Given the description of an element on the screen output the (x, y) to click on. 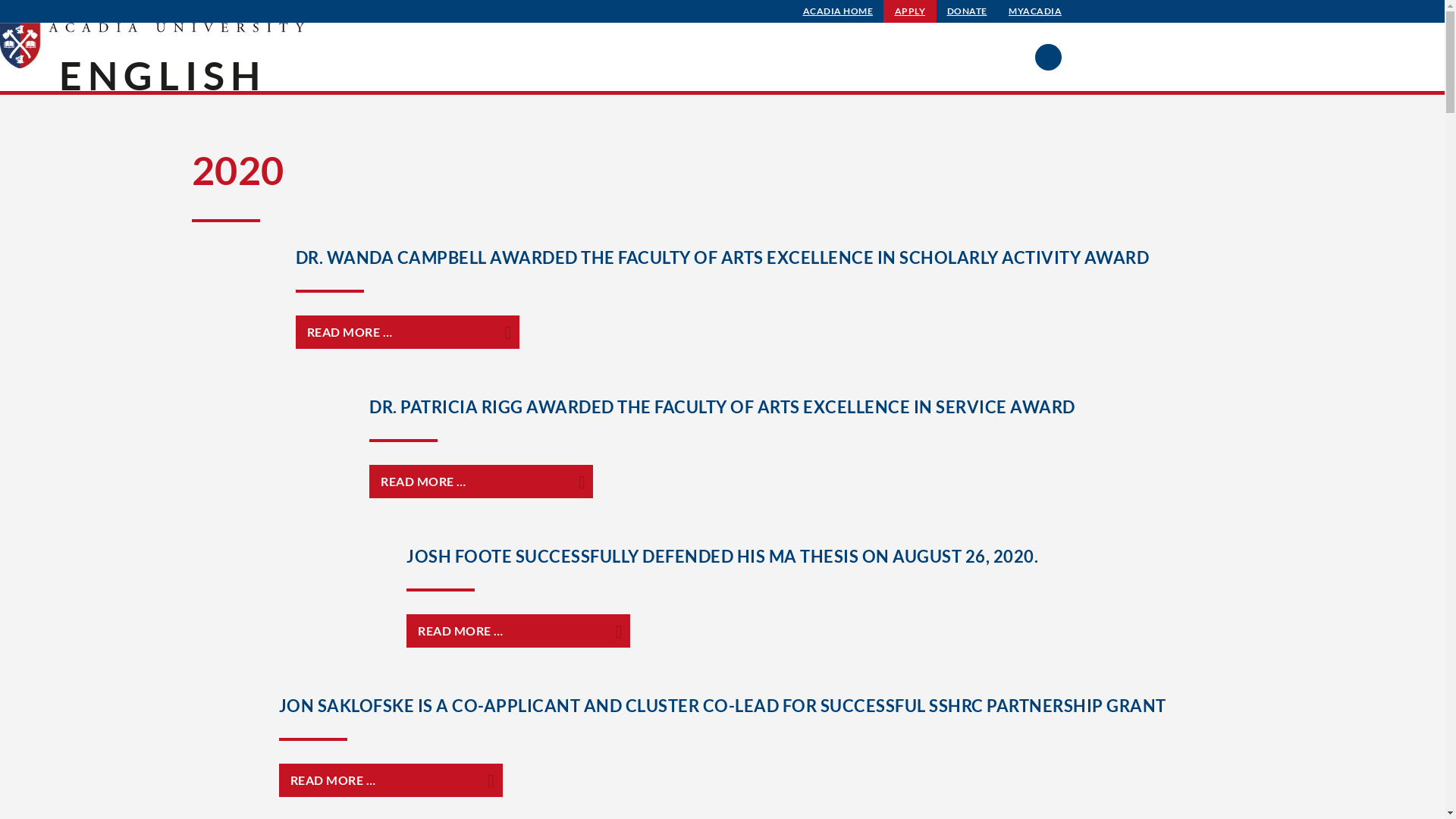
APPLY Element type: text (909, 11)
ACADIA HOME Element type: text (837, 11)
ENGLISH Element type: text (162, 74)
DONATE Element type: text (966, 11)
MYACADIA Element type: text (1035, 11)
